Given the description of an element on the screen output the (x, y) to click on. 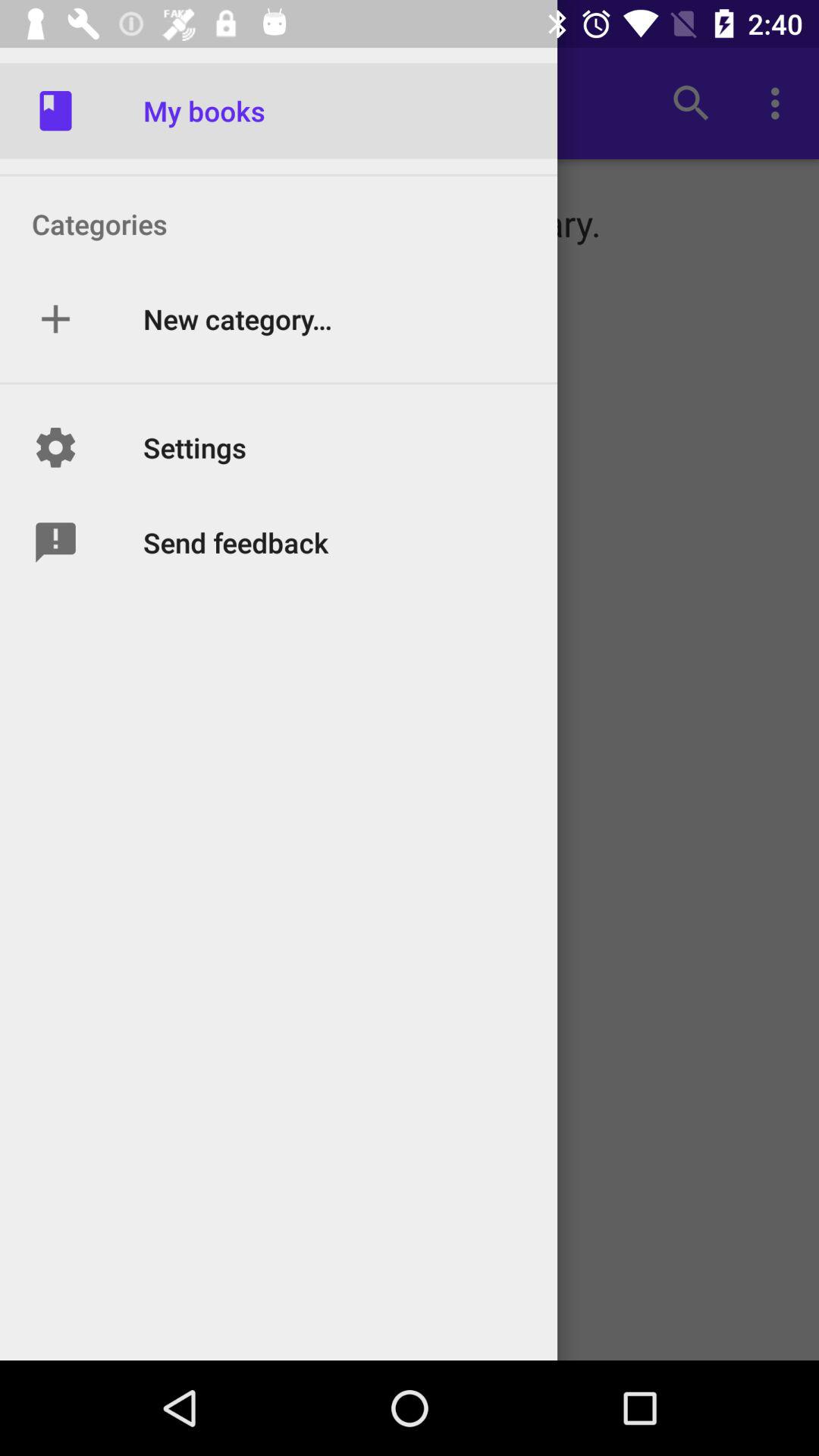
click on the option beside text settings (55, 447)
